Given the description of an element on the screen output the (x, y) to click on. 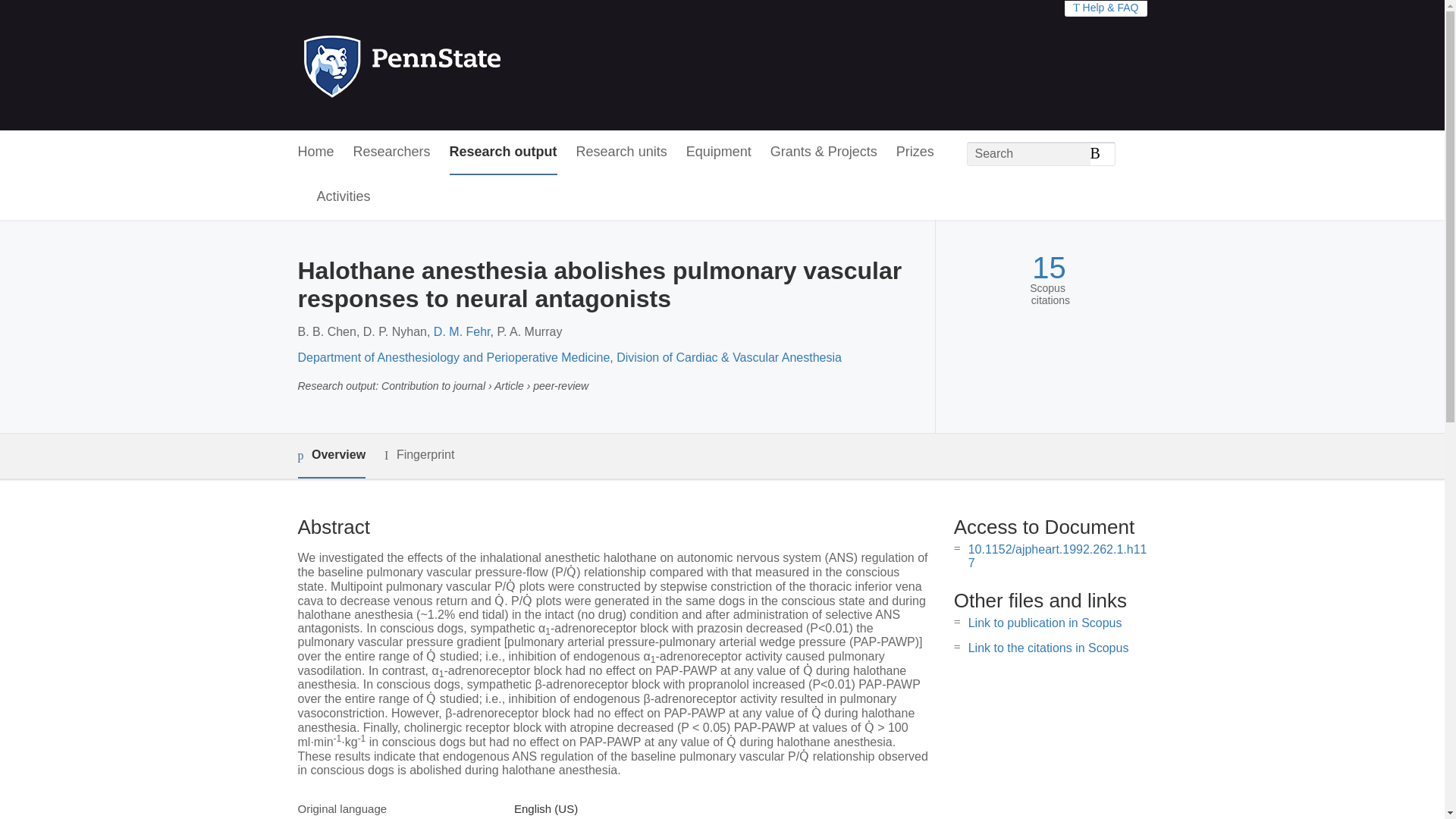
Fingerprint (419, 455)
Overview (331, 456)
Link to the citations in Scopus (1048, 647)
D. M. Fehr (461, 331)
Penn State Home (467, 65)
Link to publication in Scopus (1045, 622)
Researchers (391, 152)
Activities (344, 197)
Research units (621, 152)
